Given the description of an element on the screen output the (x, y) to click on. 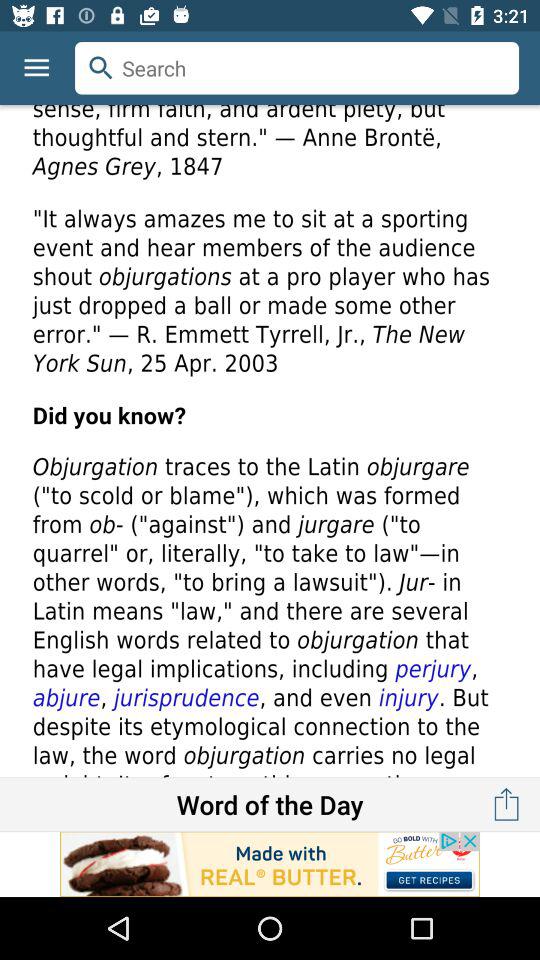
search button (297, 68)
